Given the description of an element on the screen output the (x, y) to click on. 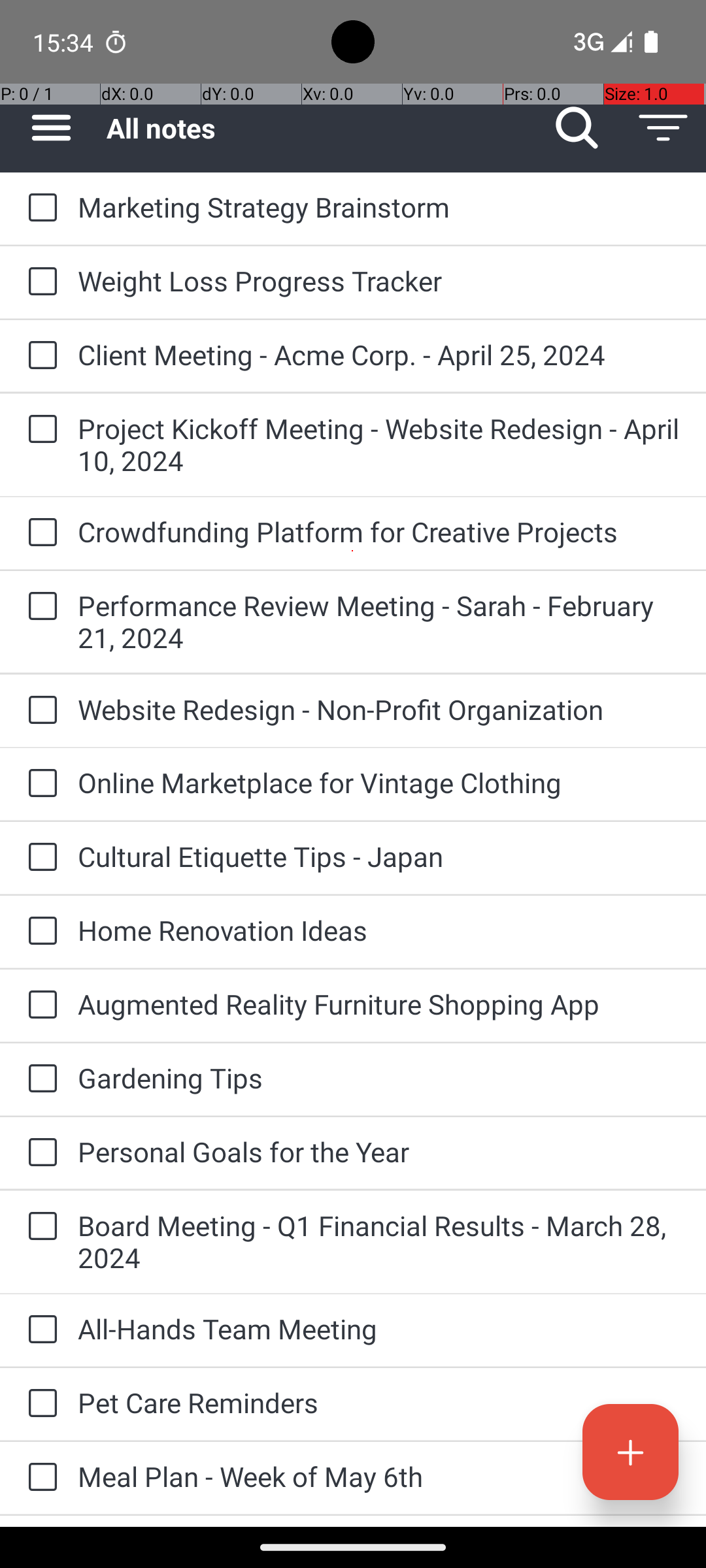
to-do: Marketing Strategy Brainstorm Element type: android.widget.CheckBox (38, 208)
Marketing Strategy Brainstorm Element type: android.widget.TextView (378, 206)
to-do: Weight Loss Progress Tracker Element type: android.widget.CheckBox (38, 282)
Weight Loss Progress Tracker Element type: android.widget.TextView (378, 280)
to-do: Client Meeting - Acme Corp. - April 25, 2024 Element type: android.widget.CheckBox (38, 356)
Client Meeting - Acme Corp. - April 25, 2024 Element type: android.widget.TextView (378, 354)
to-do: Project Kickoff Meeting - Website Redesign - April 10, 2024 Element type: android.widget.CheckBox (38, 429)
Project Kickoff Meeting - Website Redesign - April 10, 2024 Element type: android.widget.TextView (378, 443)
to-do: Crowdfunding Platform for Creative Projects Element type: android.widget.CheckBox (38, 533)
Crowdfunding Platform for Creative Projects Element type: android.widget.TextView (378, 531)
to-do: Performance Review Meeting - Sarah - February 21, 2024 Element type: android.widget.CheckBox (38, 606)
Performance Review Meeting - Sarah - February 21, 2024 Element type: android.widget.TextView (378, 620)
to-do: Website Redesign - Non-Profit Organization Element type: android.widget.CheckBox (38, 710)
Website Redesign - Non-Profit Organization Element type: android.widget.TextView (378, 708)
to-do: Cultural Etiquette Tips - Japan Element type: android.widget.CheckBox (38, 857)
Cultural Etiquette Tips - Japan Element type: android.widget.TextView (378, 855)
to-do: Home Renovation Ideas Element type: android.widget.CheckBox (38, 931)
Home Renovation Ideas Element type: android.widget.TextView (378, 929)
to-do: Augmented Reality Furniture Shopping App Element type: android.widget.CheckBox (38, 1005)
Augmented Reality Furniture Shopping App Element type: android.widget.TextView (378, 1003)
to-do: Gardening Tips Element type: android.widget.CheckBox (38, 1079)
Gardening Tips Element type: android.widget.TextView (378, 1077)
to-do: Personal Goals for the Year Element type: android.widget.CheckBox (38, 1153)
Personal Goals for the Year Element type: android.widget.TextView (378, 1151)
to-do: Board Meeting - Q1 Financial Results - March 28, 2024 Element type: android.widget.CheckBox (38, 1227)
Board Meeting - Q1 Financial Results - March 28, 2024 Element type: android.widget.TextView (378, 1240)
to-do: All-Hands Team Meeting Element type: android.widget.CheckBox (38, 1330)
All-Hands Team Meeting Element type: android.widget.TextView (378, 1328)
to-do: Pet Care Reminders Element type: android.widget.CheckBox (38, 1403)
Pet Care Reminders Element type: android.widget.TextView (378, 1402)
to-do: Meal Plan - Week of May 6th Element type: android.widget.CheckBox (38, 1477)
Meal Plan - Week of May 6th Element type: android.widget.TextView (378, 1475)
to-do: Salmon with Roasted Vegetables Element type: android.widget.CheckBox (38, 1520)
